Given the description of an element on the screen output the (x, y) to click on. 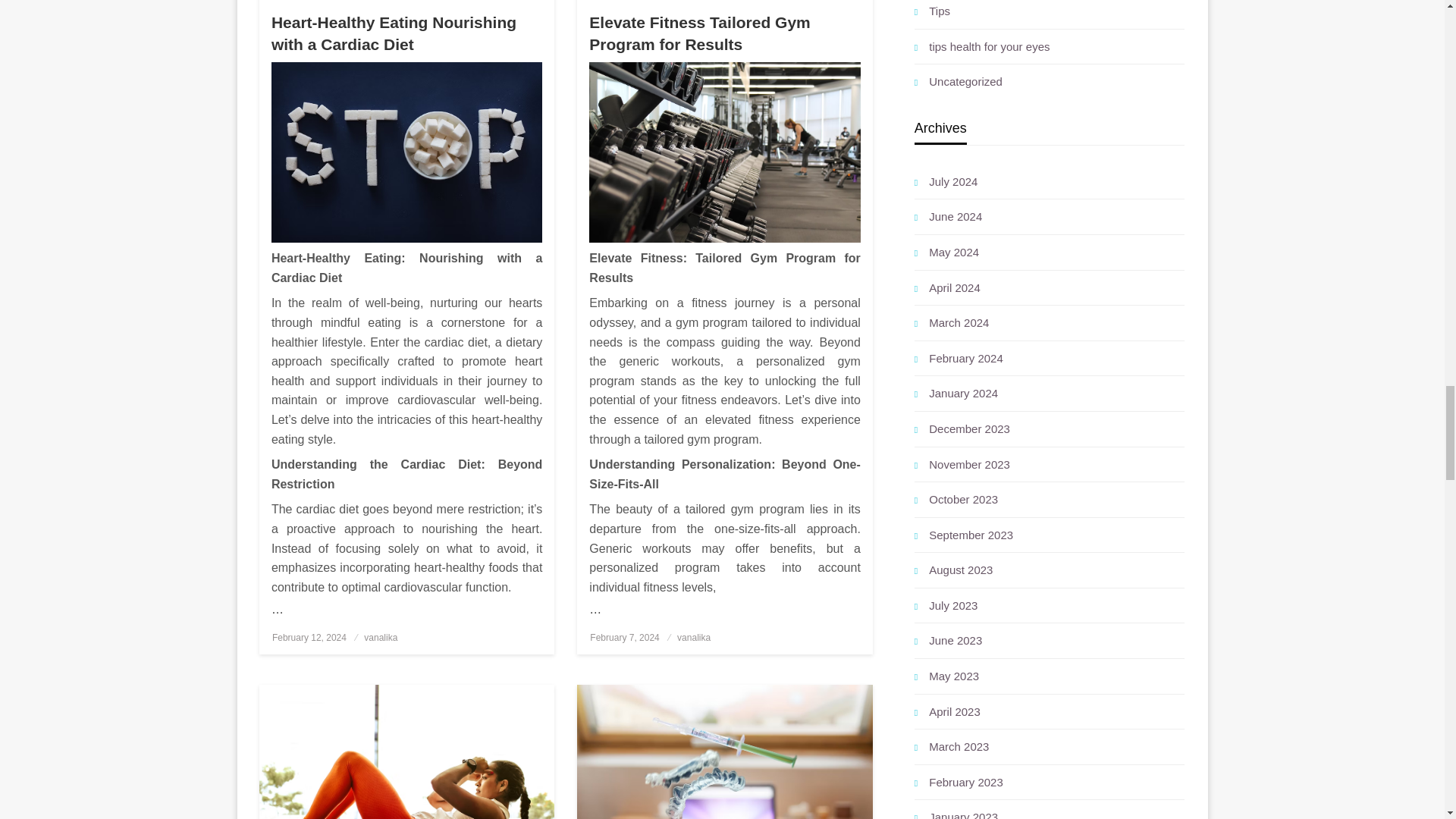
vanalika (380, 637)
vanalika (693, 637)
